Given the description of an element on the screen output the (x, y) to click on. 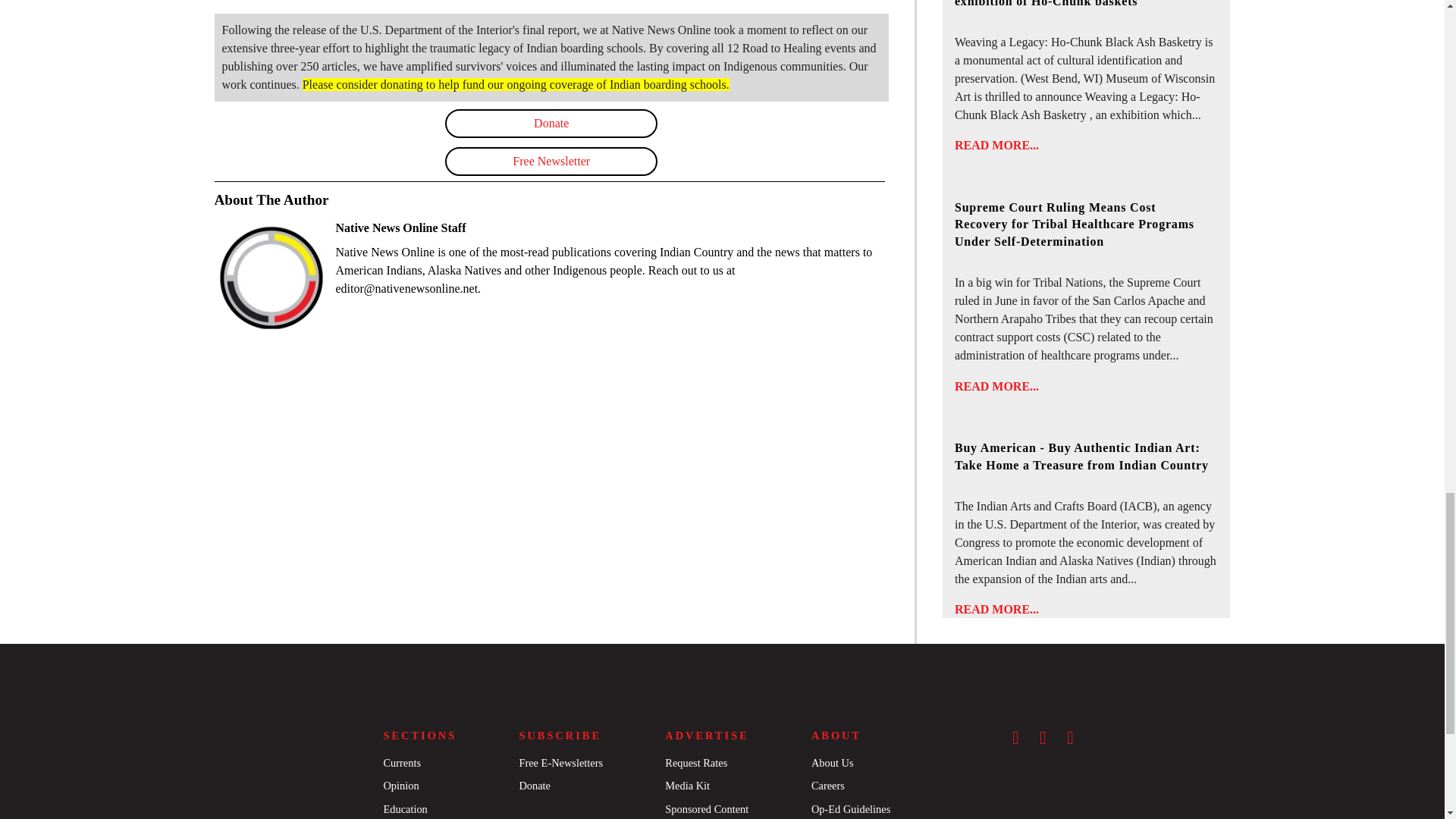
Currents (401, 762)
Media Kit (687, 785)
Free E-Newsletters (560, 762)
Education (404, 808)
Donate (551, 123)
Sponsored Content (706, 808)
Free Newsletter (551, 161)
Request Rates (695, 762)
Opinion (400, 785)
Donate (534, 785)
